Given the description of an element on the screen output the (x, y) to click on. 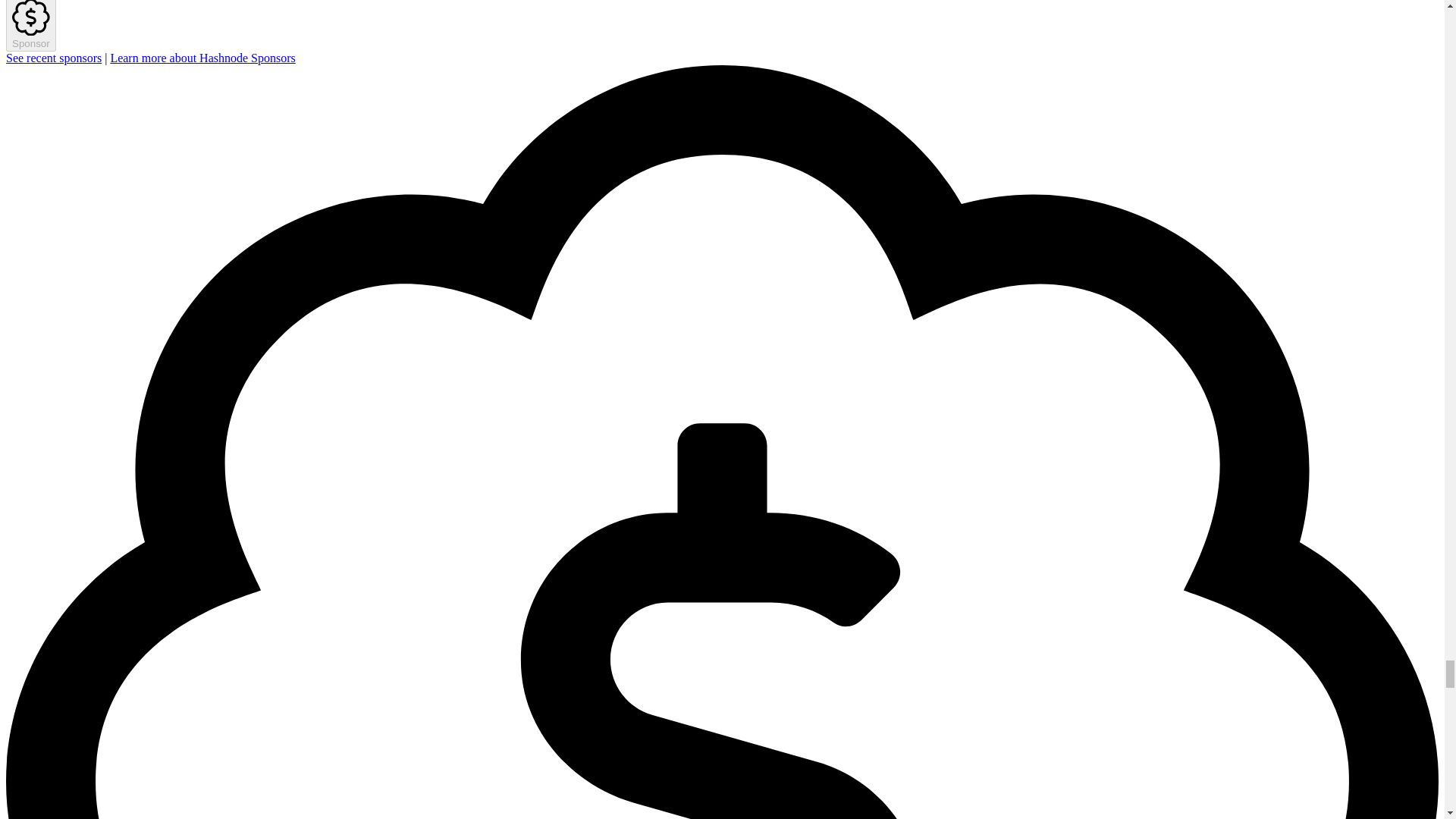
Sponsor (30, 26)
Learn more about Hashnode Sponsors (202, 57)
See recent sponsors (53, 57)
